Given the description of an element on the screen output the (x, y) to click on. 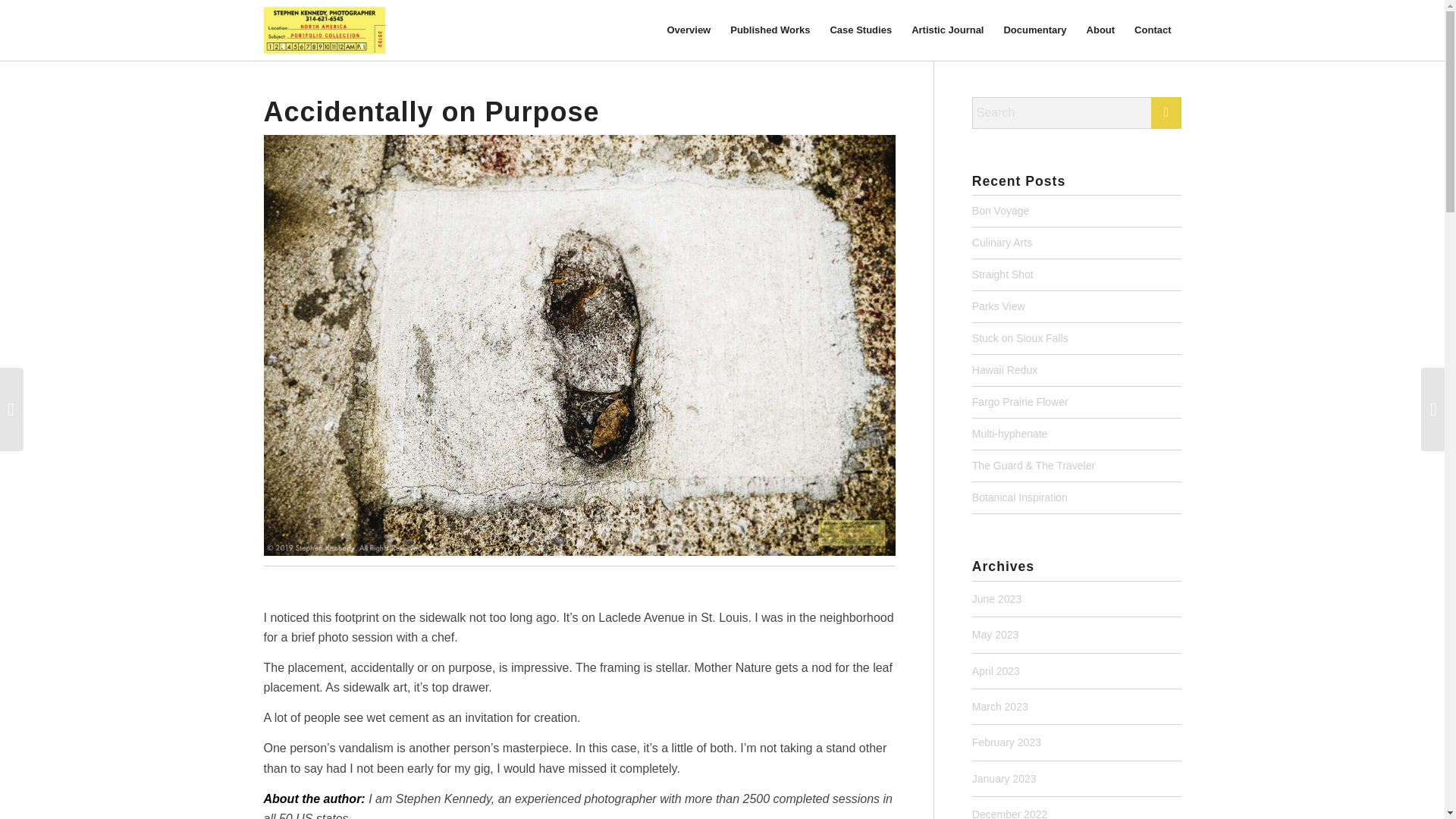
Overview (688, 30)
Fargo Prairie Flower (1020, 401)
Botanical Inspiration (1019, 497)
Multi-hyphenate (1010, 433)
April 2023 (996, 670)
Hawaii Redux (1004, 369)
June 2023 (997, 598)
Culinary Arts (1002, 242)
May 2023 (994, 634)
Click to start search (1165, 112)
February 2023 (1006, 742)
Artistic Journal (946, 30)
Bon Voyage (1000, 210)
March 2023 (999, 706)
December 2022 (1010, 813)
